Given the description of an element on the screen output the (x, y) to click on. 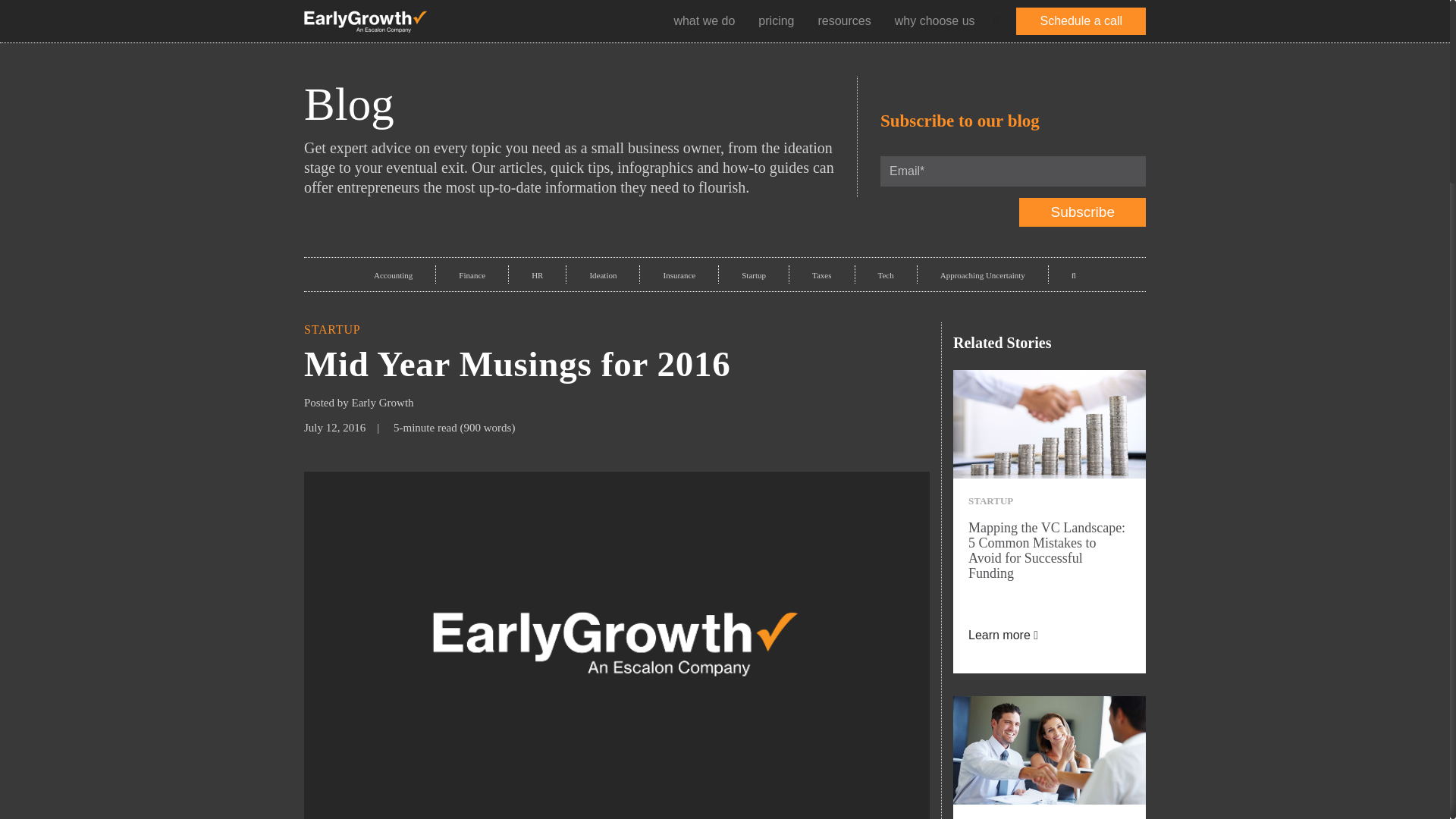
what we do (703, 20)
why choose us (934, 20)
Schedule a call (1080, 21)
Finance (471, 275)
Securing VC Funding (1049, 750)
pricing (775, 20)
Subscribe (1082, 212)
Accounting (393, 275)
Subscribe (1082, 212)
Funding (1049, 424)
resources (843, 20)
